Given the description of an element on the screen output the (x, y) to click on. 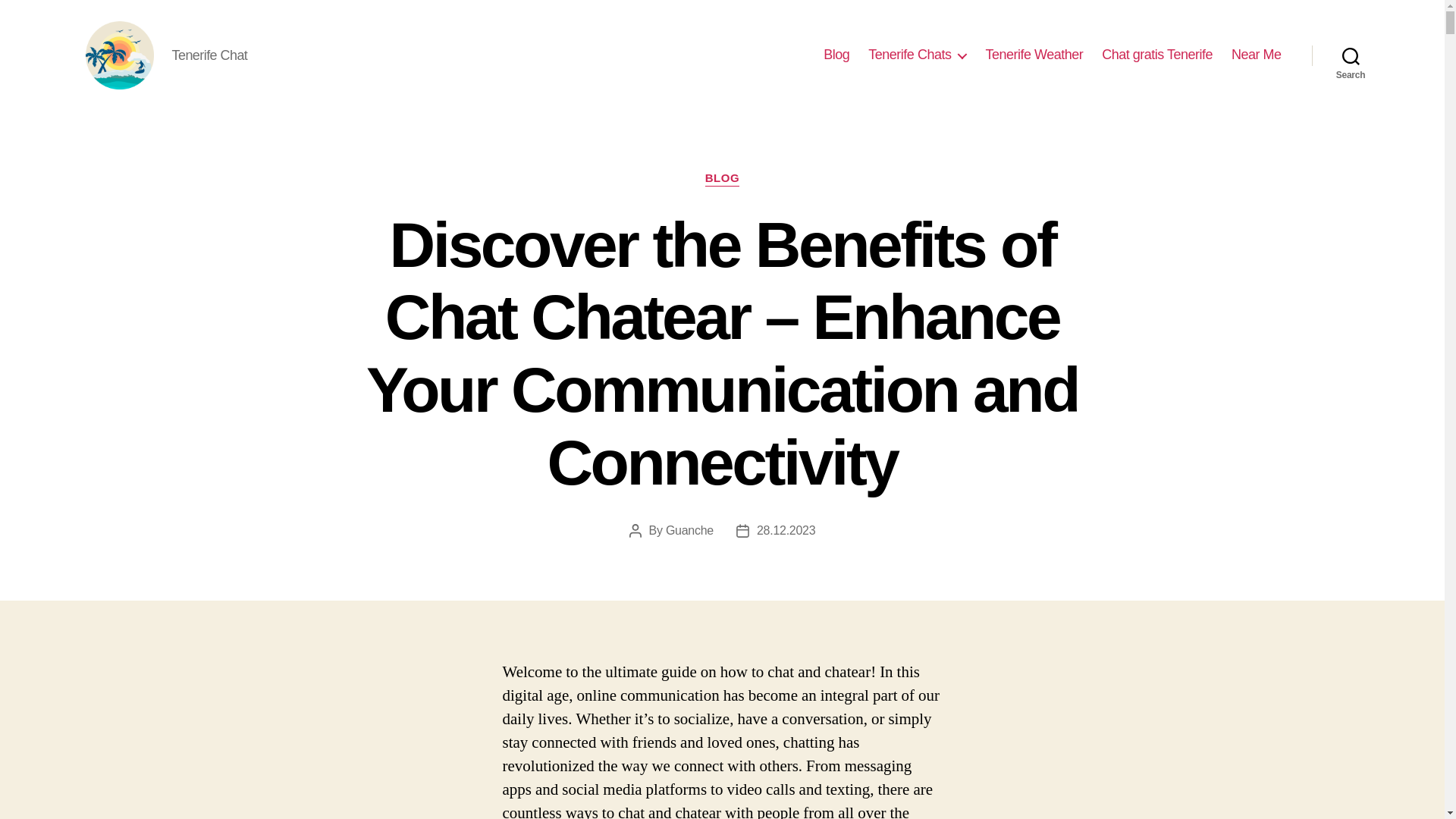
Tenerife Weather (1034, 54)
Guanche (689, 530)
BLOG (721, 178)
28.12.2023 (786, 530)
Tenerife Chats (916, 54)
Near Me (1256, 54)
Blog (836, 54)
Search (1350, 55)
Chat gratis Tenerife (1157, 54)
